Given the description of an element on the screen output the (x, y) to click on. 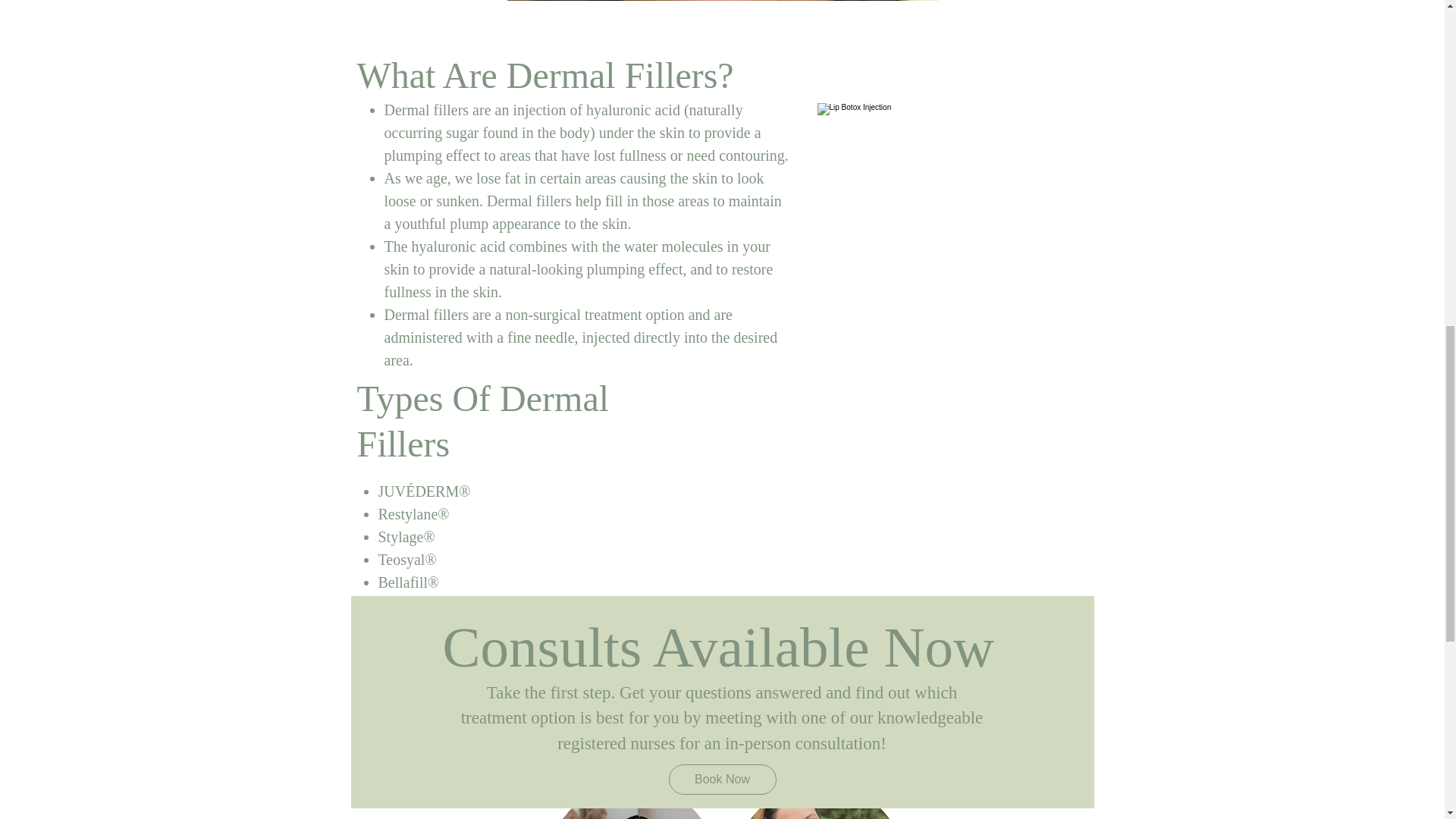
Nurse Julie (818, 800)
Nurse Bhavneet (631, 800)
